Given the description of an element on the screen output the (x, y) to click on. 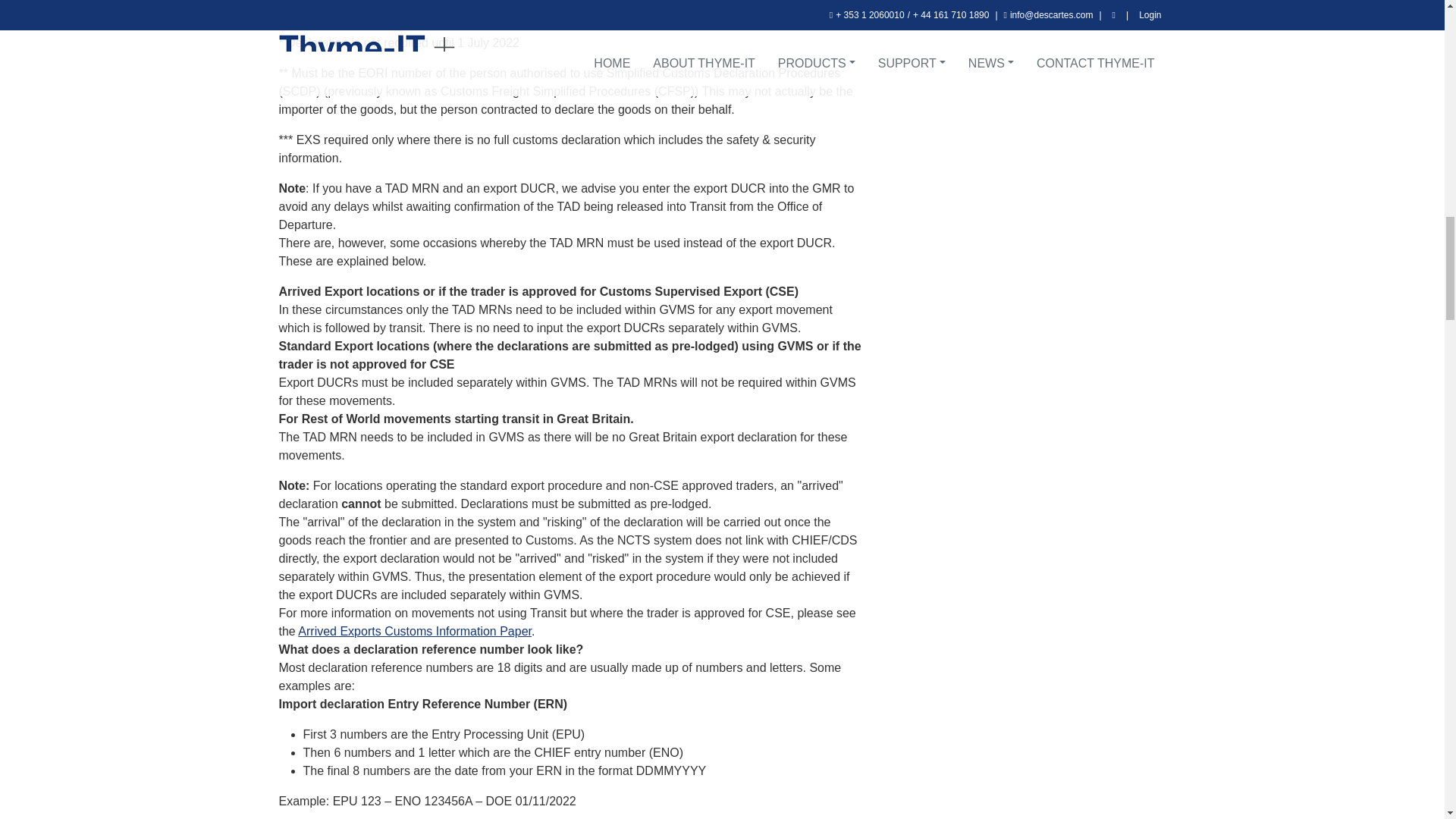
Arrived Exports Customs Information Paper (414, 631)
Arrived Exports Customs Information Paper (414, 631)
